Given the description of an element on the screen output the (x, y) to click on. 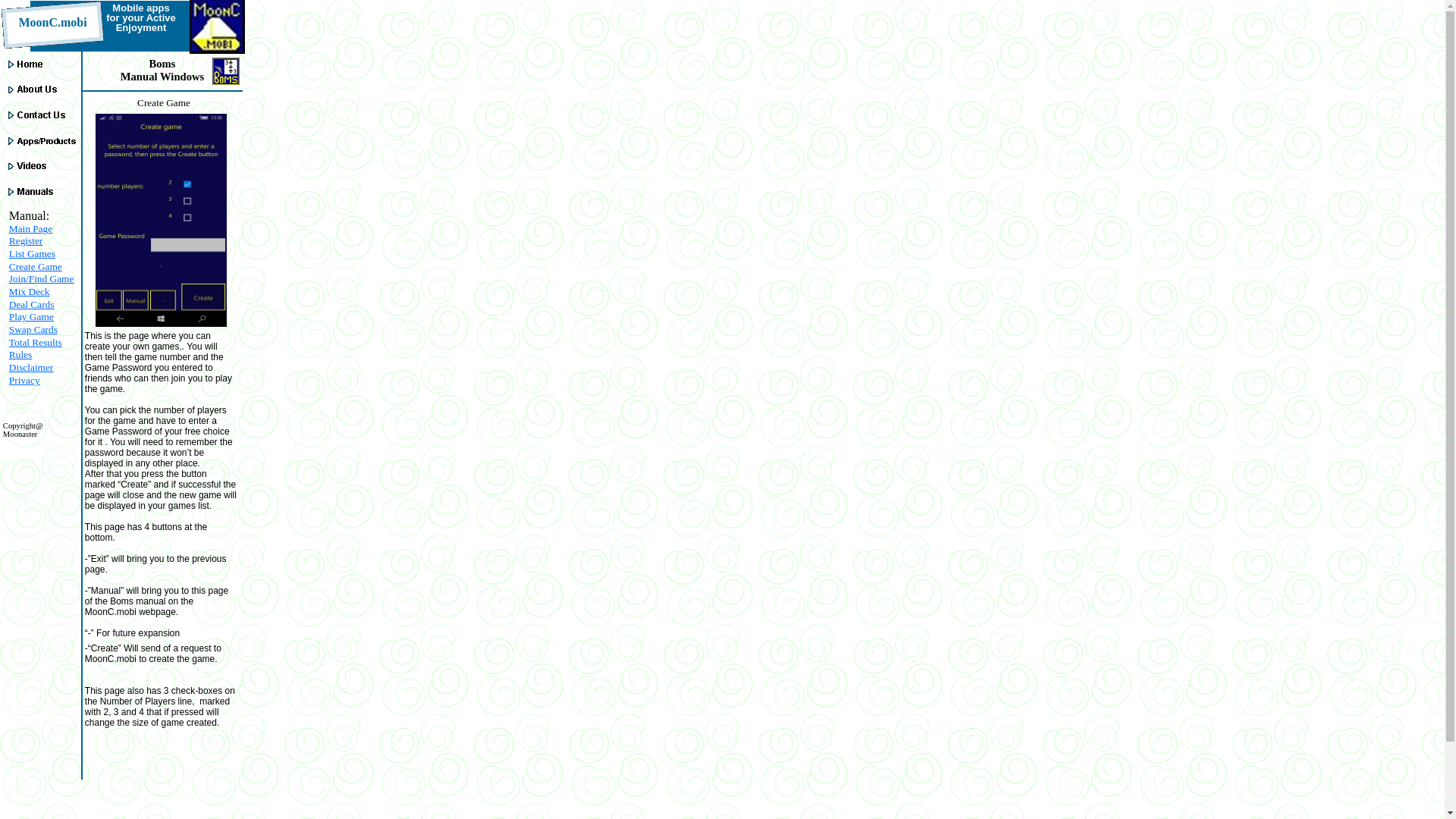
Swap Cards (33, 328)
Mix Deck (28, 291)
Privacy (24, 379)
Deal Cards (31, 304)
Disclaimer (30, 367)
Register (25, 240)
Rules (20, 354)
Play Game (30, 316)
List Games (31, 253)
Total Results (35, 342)
Main Page (30, 228)
Create Game (35, 266)
